Given the description of an element on the screen output the (x, y) to click on. 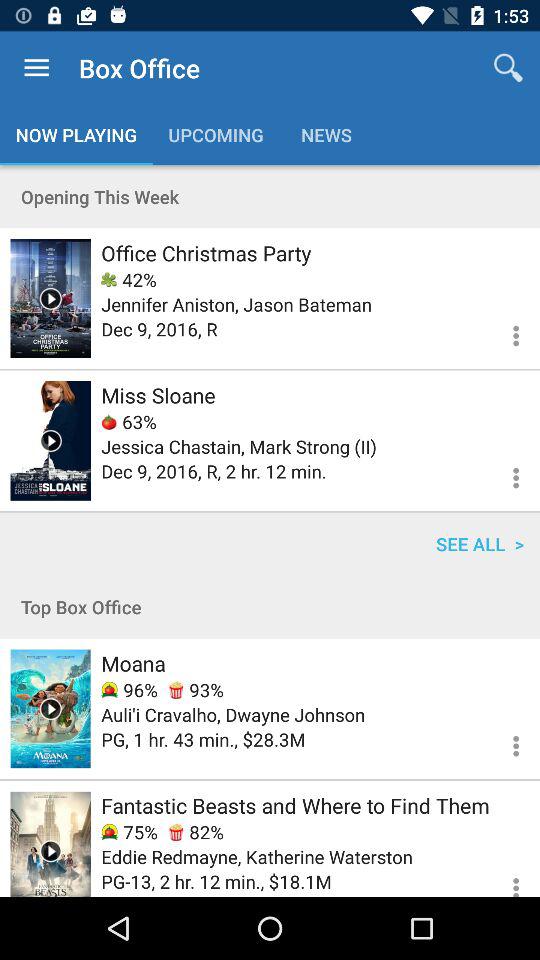
choose the item below miss sloane icon (128, 421)
